Given the description of an element on the screen output the (x, y) to click on. 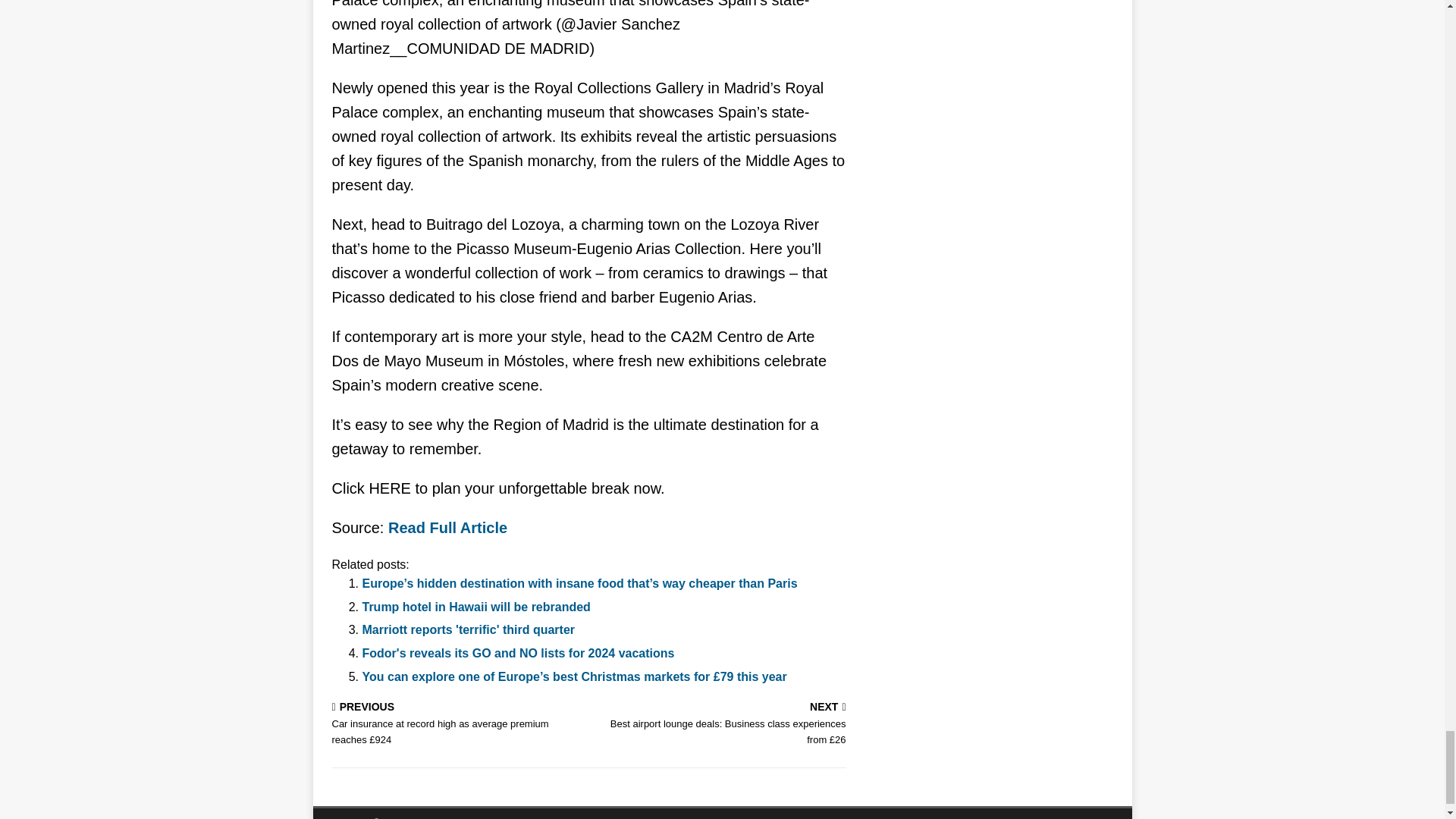
Read Full Article (447, 527)
Marriott reports 'terrific' third quarter (468, 629)
Fodor's reveals its GO and NO lists for 2024 vacations (518, 653)
Trump hotel in Hawaii will be rebranded (476, 606)
Fodor's reveals its GO and NO lists for 2024 vacations (518, 653)
Marriott reports 'terrific' third quarter (468, 629)
Trump hotel in Hawaii will be rebranded (476, 606)
